Given the description of an element on the screen output the (x, y) to click on. 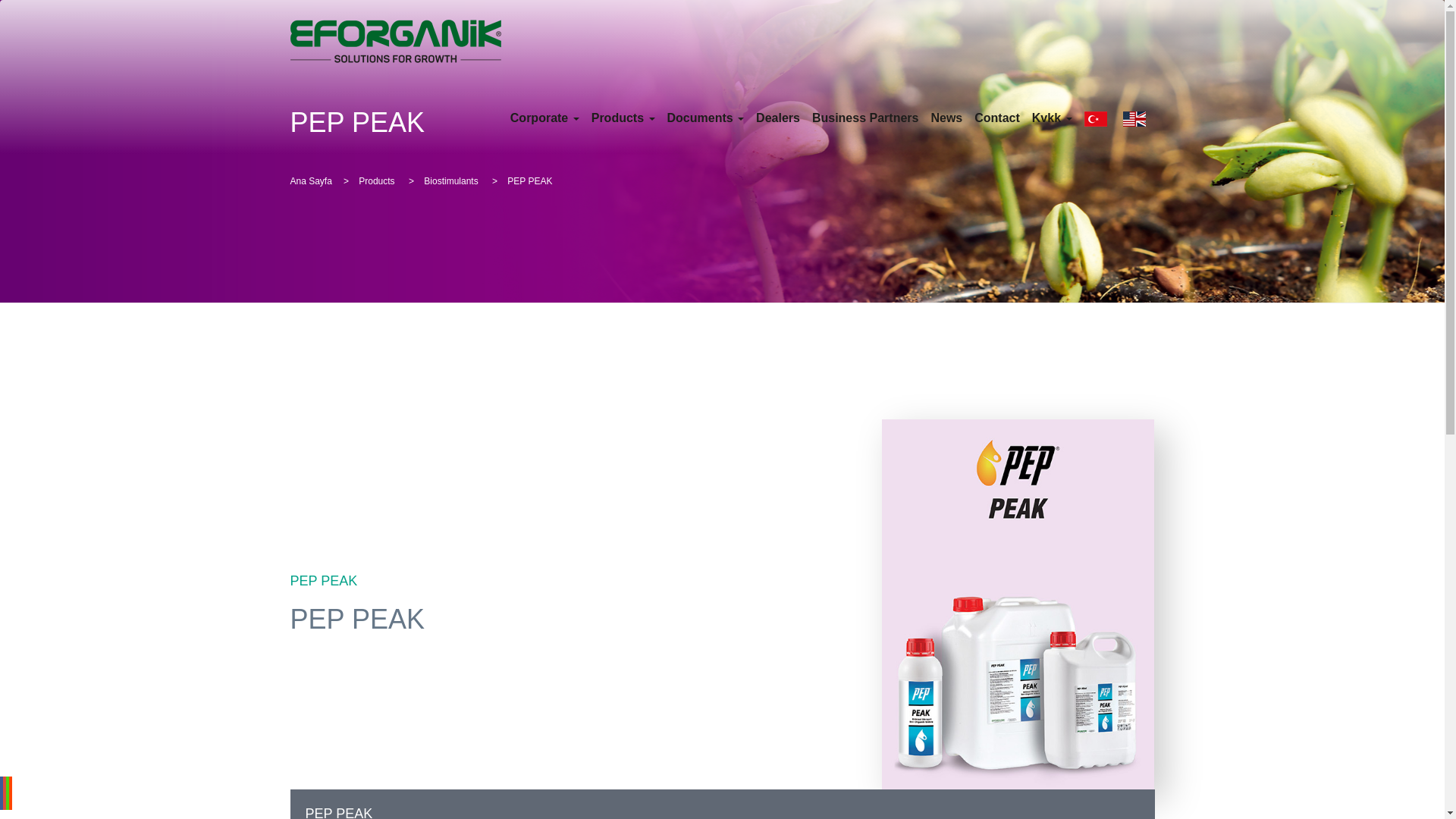
Business Partners (864, 117)
Documents (705, 117)
PEP PEAK (721, 804)
Products (377, 181)
Ana Sayfa (310, 181)
Products (623, 117)
Business Partners  (864, 117)
Biostimulants (451, 181)
Corporate (544, 117)
